Given the description of an element on the screen output the (x, y) to click on. 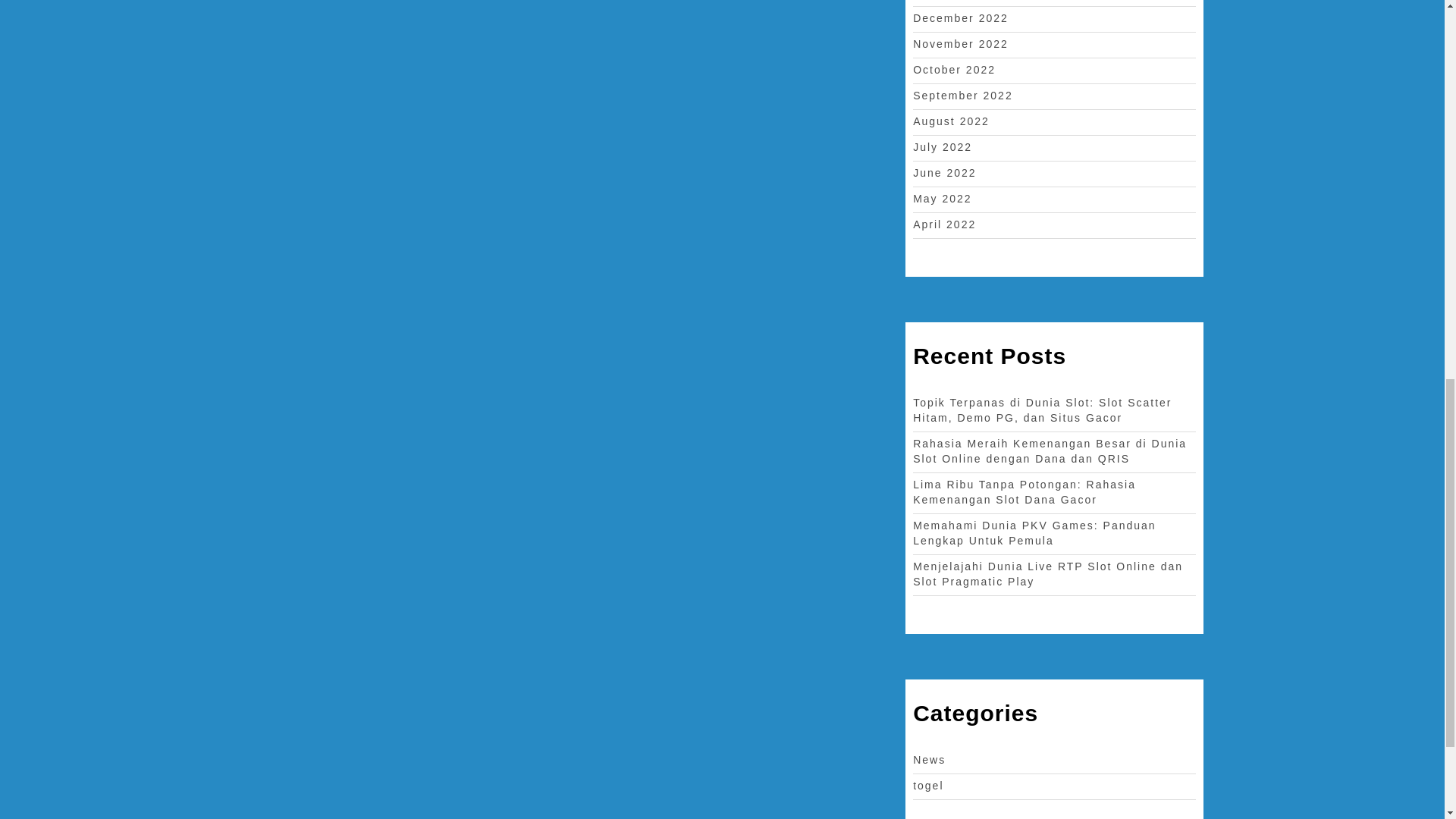
April 2022 (943, 224)
November 2022 (960, 43)
May 2022 (941, 198)
December 2022 (960, 18)
June 2022 (943, 173)
Memahami Dunia PKV Games: Panduan Lengkap Untuk Pemula (1034, 533)
September 2022 (962, 95)
Lima Ribu Tanpa Potongan: Rahasia Kemenangan Slot Dana Gacor (1023, 492)
August 2022 (951, 121)
October 2022 (953, 69)
July 2022 (942, 146)
